Given the description of an element on the screen output the (x, y) to click on. 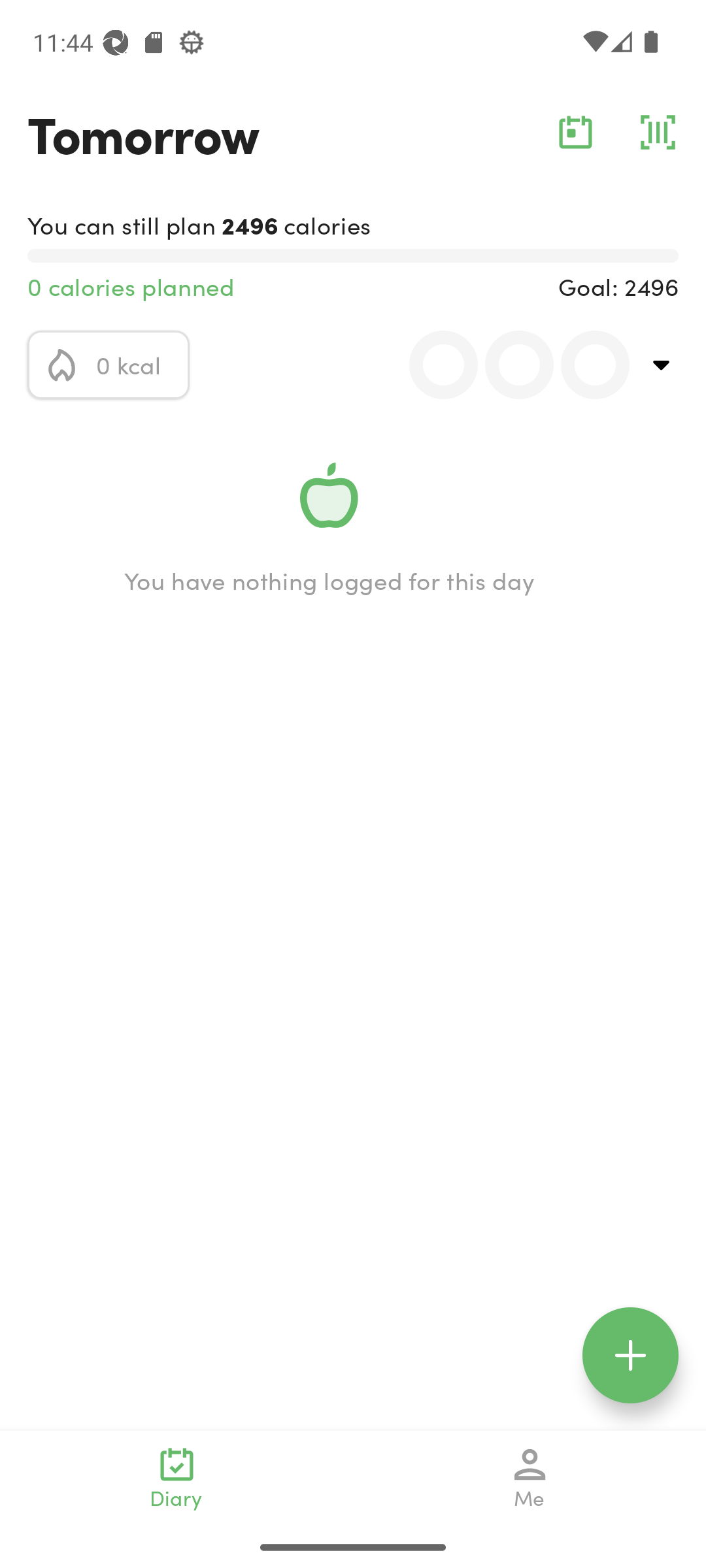
calendar_action (575, 132)
barcode_action (658, 132)
calorie_icon 0 kcal (108, 365)
0.0 0.0 0.0 (508, 365)
top_right_action (661, 365)
floating_action_icon (630, 1355)
Me navigation_icon (529, 1478)
